Given the description of an element on the screen output the (x, y) to click on. 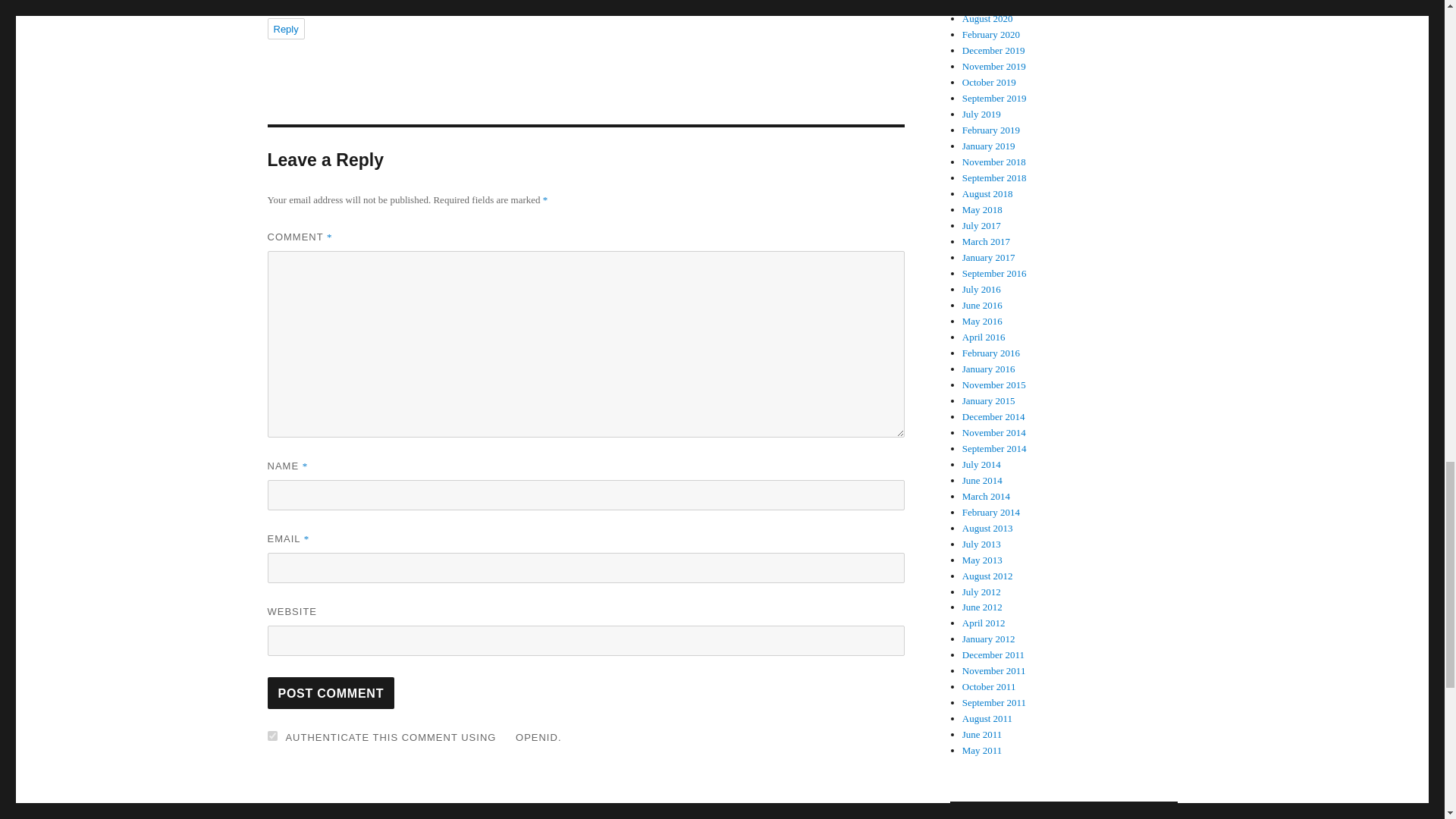
Post Comment (330, 693)
Post Comment (330, 693)
Reply (285, 28)
on (271, 736)
